Given the description of an element on the screen output the (x, y) to click on. 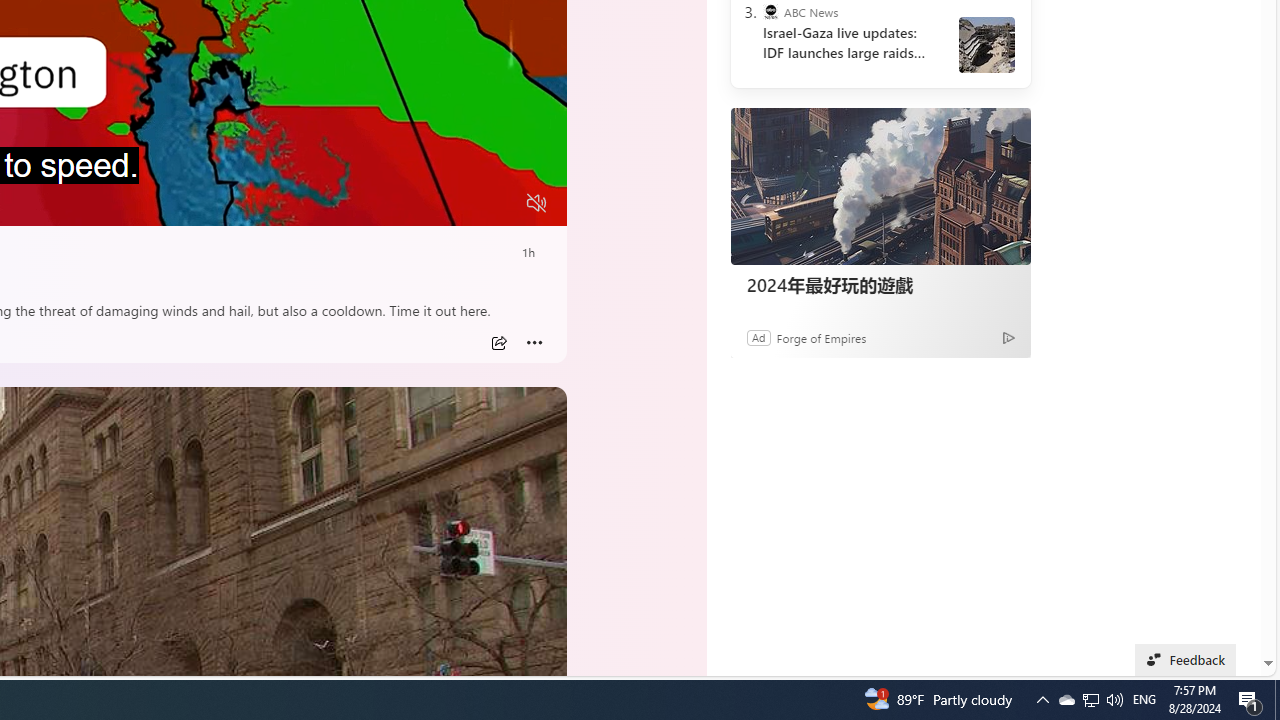
Quality Settings (418, 203)
